Given the description of an element on the screen output the (x, y) to click on. 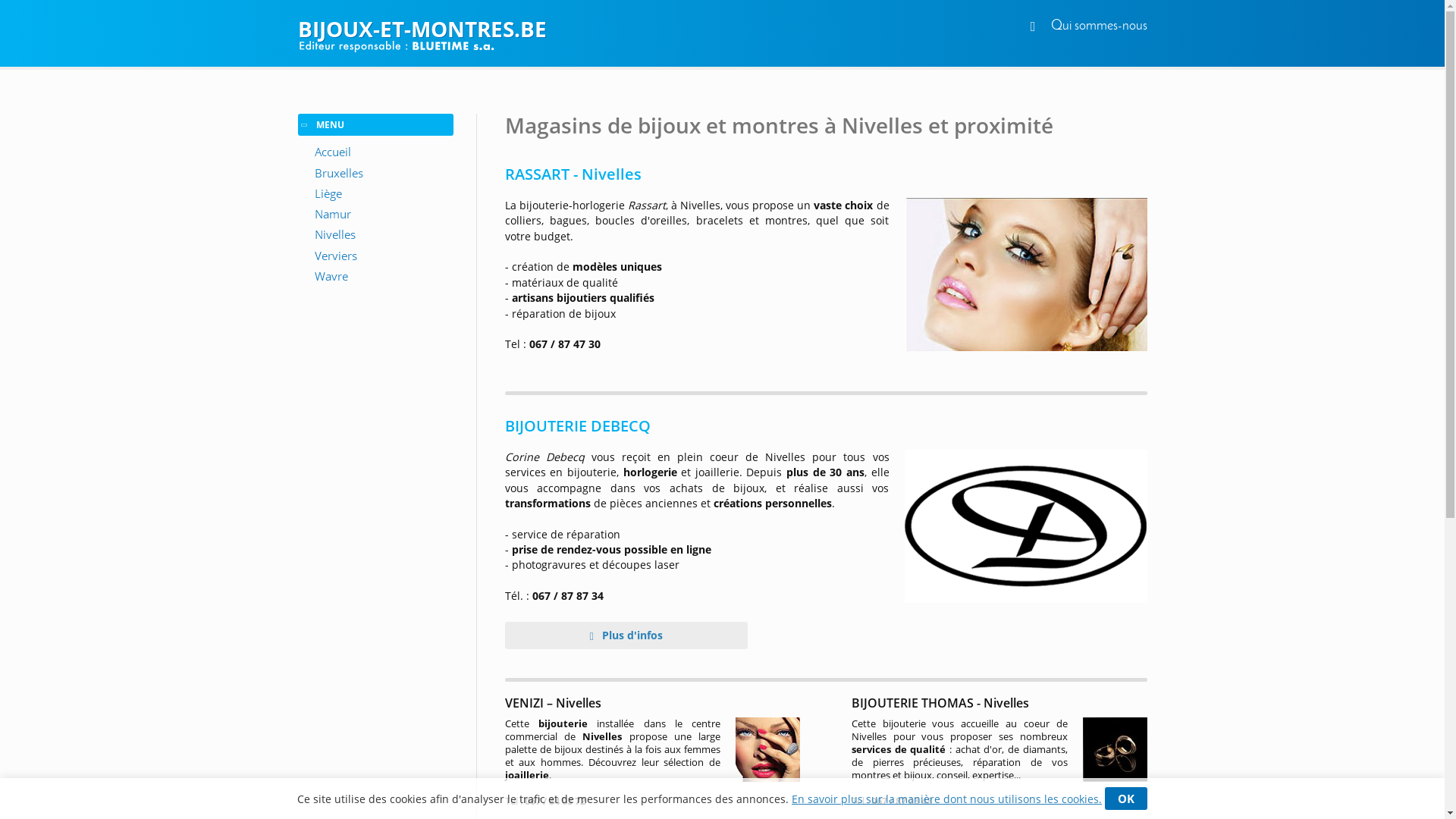
BIJOUX-ET-MONTRES.BE Element type: text (721, 28)
Plus d'infos Element type: text (626, 635)
Qui sommes-nous Element type: text (1099, 25)
